Given the description of an element on the screen output the (x, y) to click on. 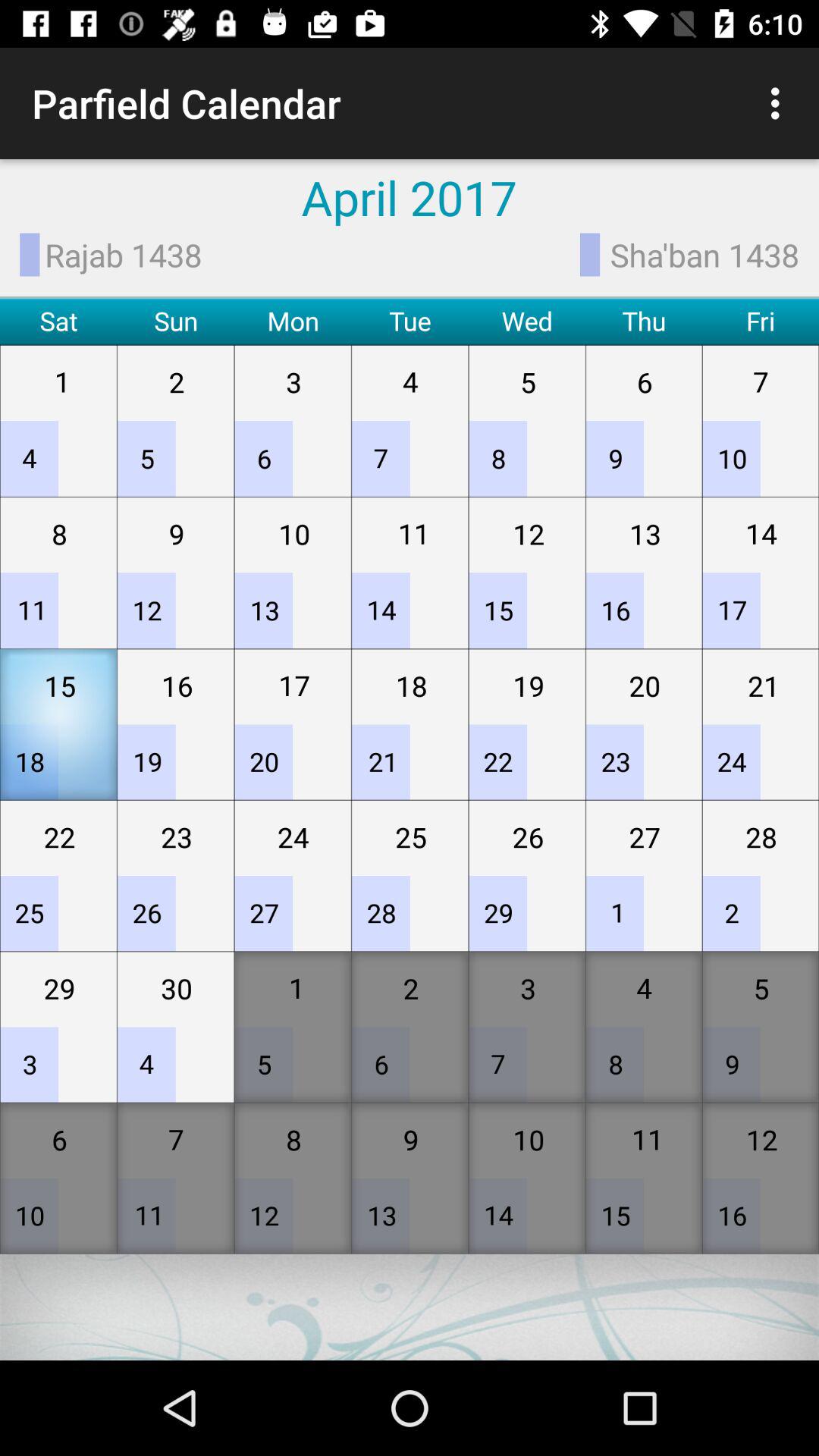
turn off the item next to april 2017 icon (779, 103)
